Given the description of an element on the screen output the (x, y) to click on. 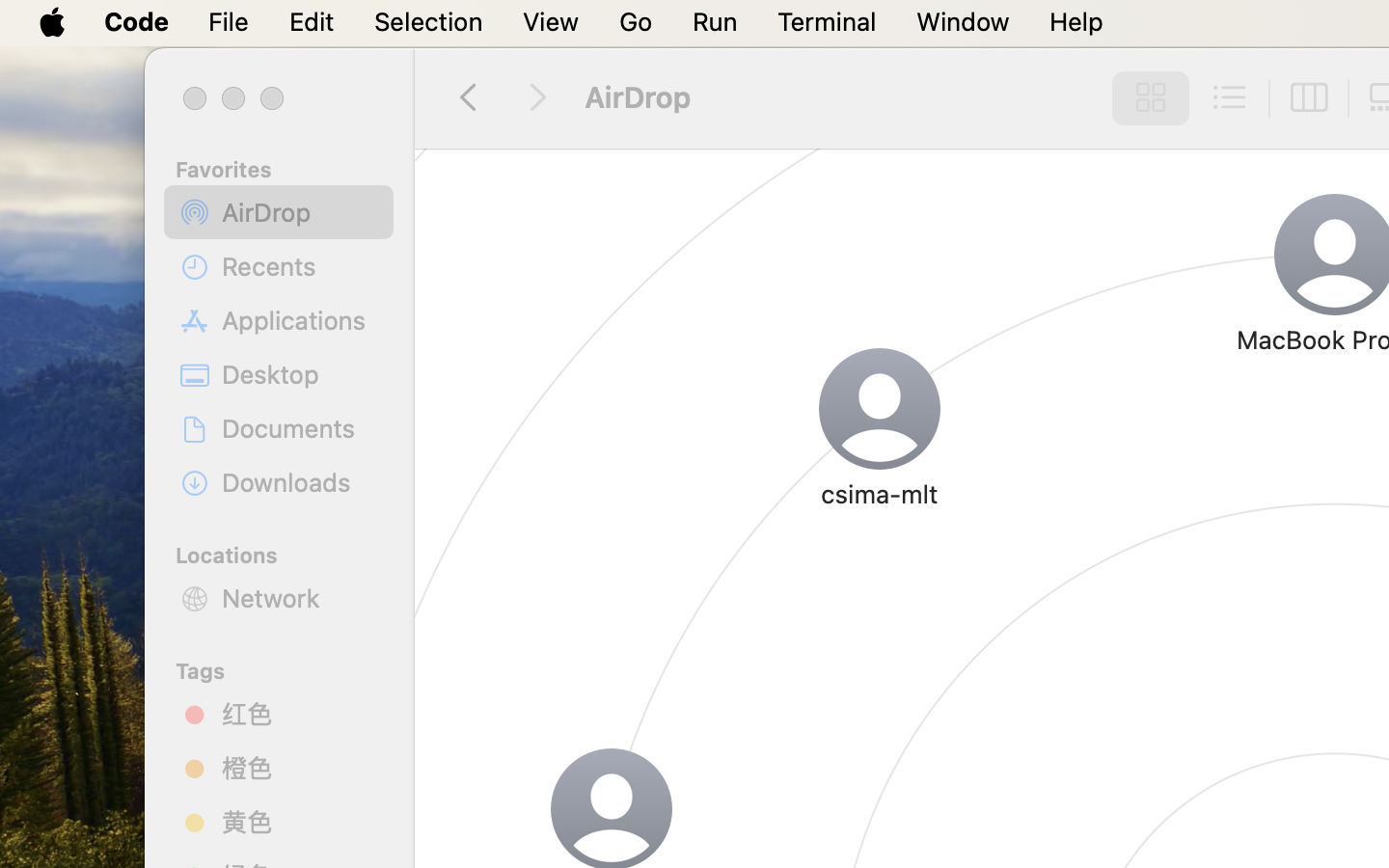
Applications Element type: AXStaticText (299, 319)
Documents Element type: AXStaticText (299, 427)
0 Element type: AXRadioButton (1229, 97)
黄色 Element type: AXStaticText (299, 821)
Desktop Element type: AXStaticText (299, 373)
